Given the description of an element on the screen output the (x, y) to click on. 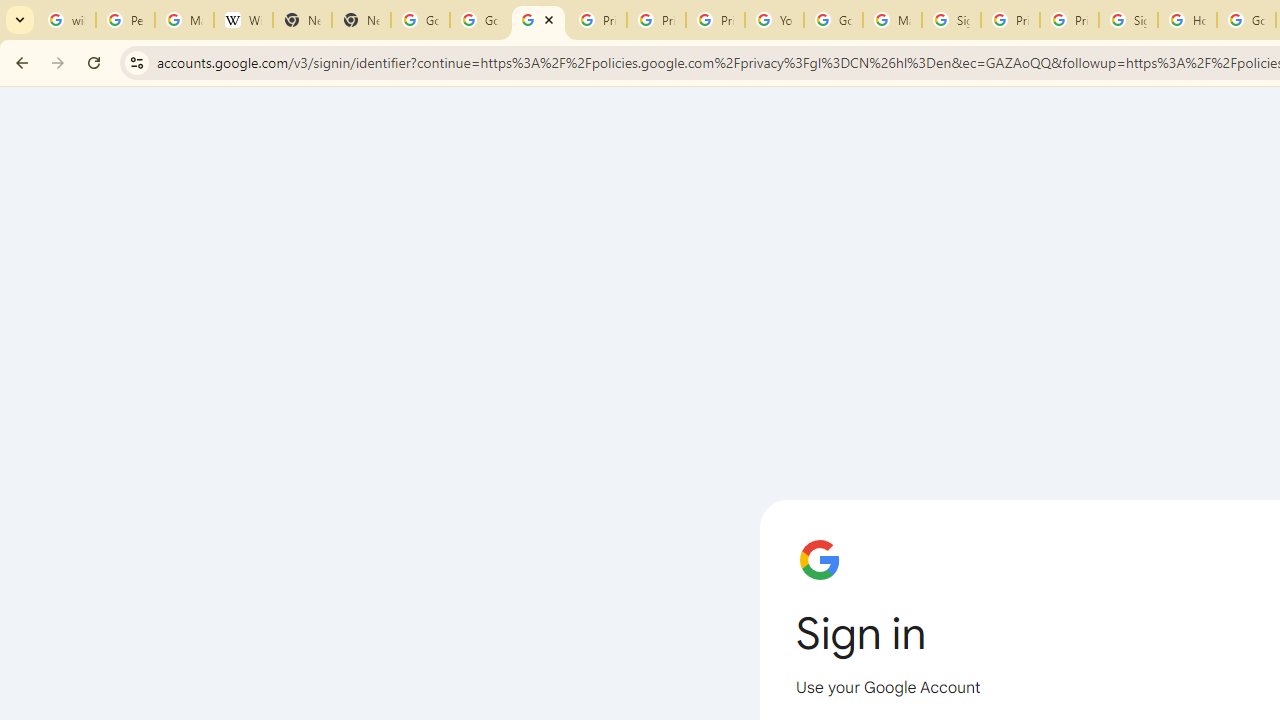
Google Account Help (832, 20)
Manage your Location History - Google Search Help (183, 20)
Google Drive: Sign-in (479, 20)
Wikipedia:Edit requests - Wikipedia (242, 20)
Personalization & Google Search results - Google Search Help (125, 20)
